Given the description of an element on the screen output the (x, y) to click on. 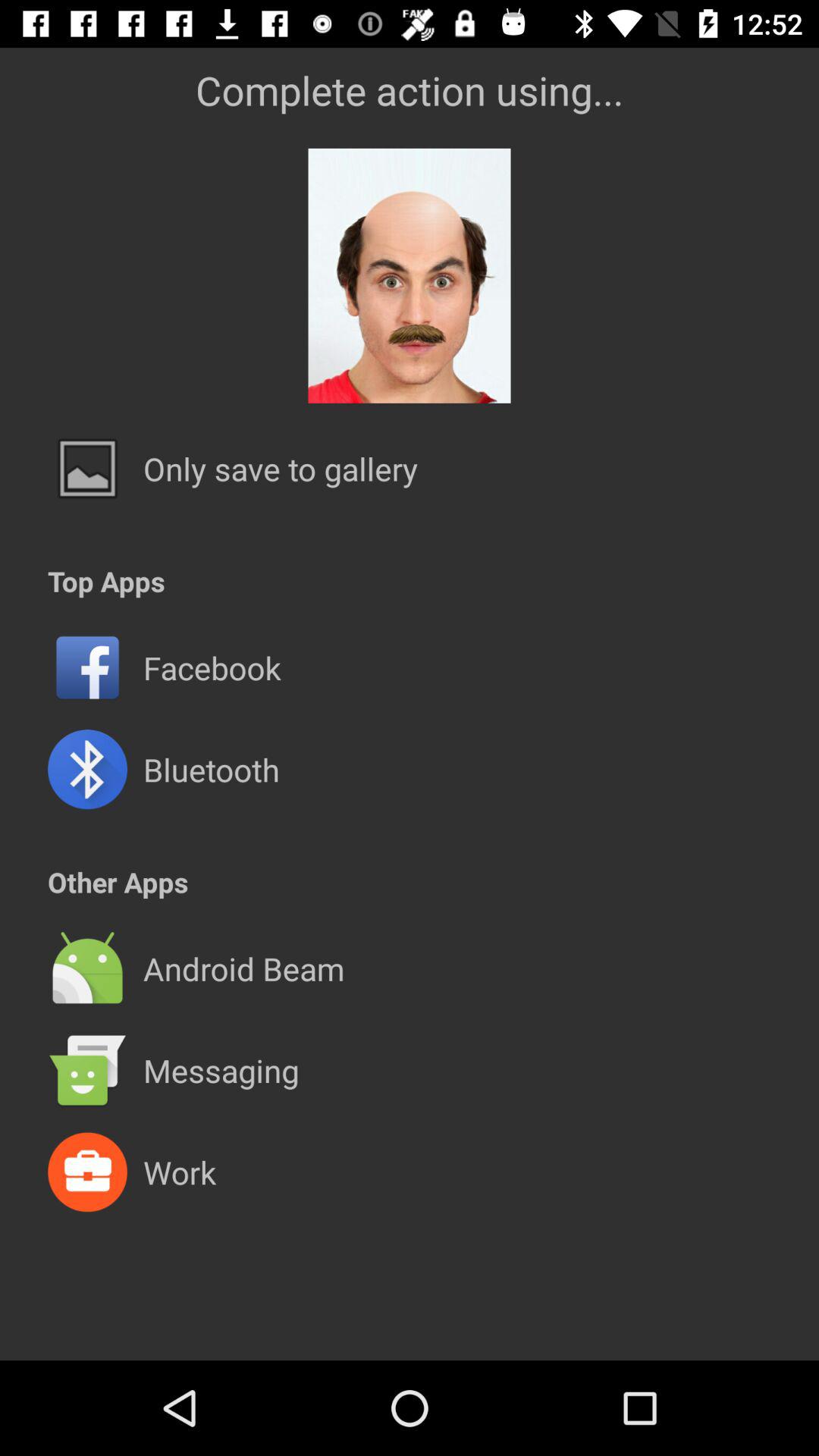
scroll until the messaging item (221, 1070)
